Given the description of an element on the screen output the (x, y) to click on. 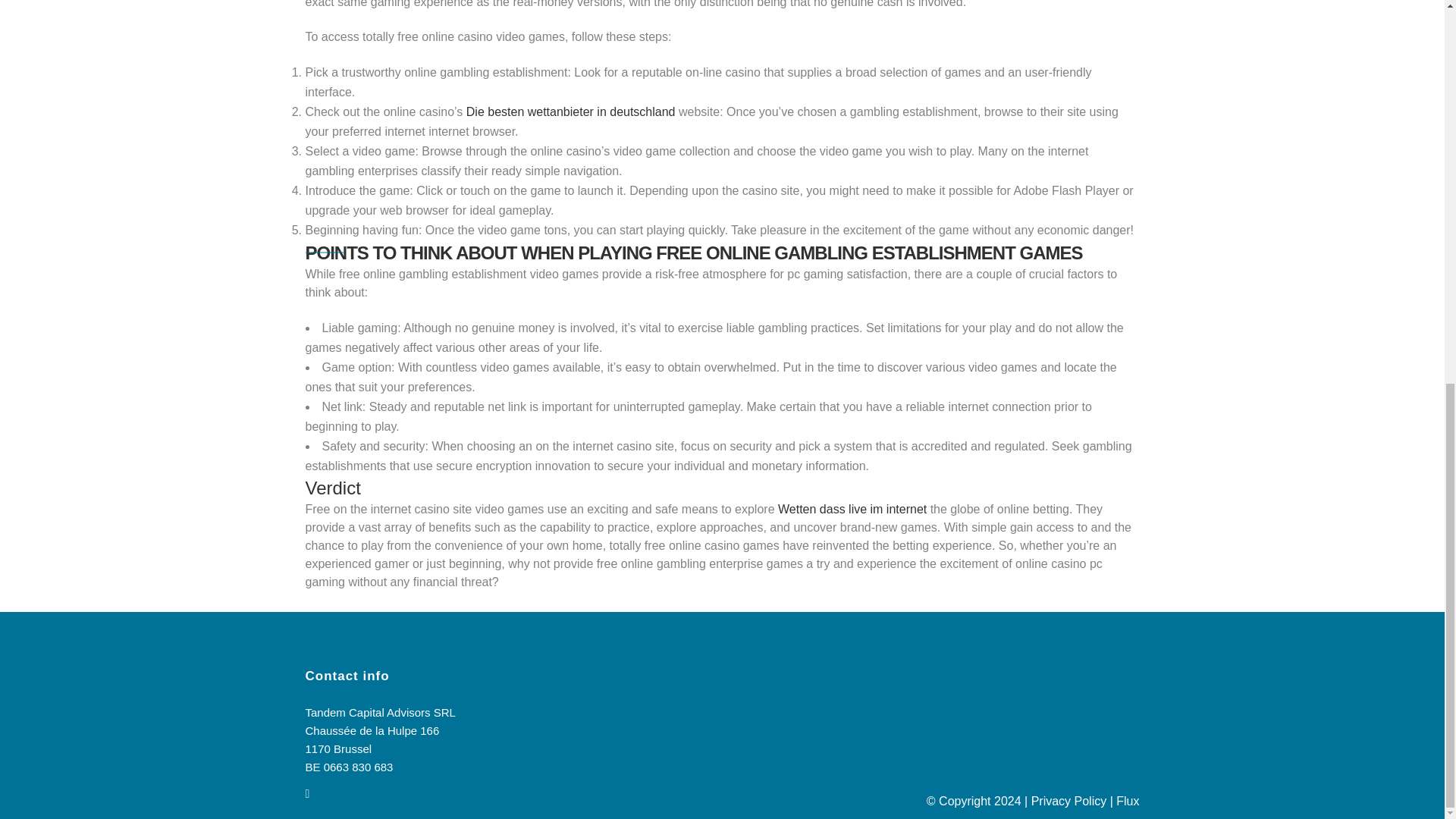
Webdesign Antwerpen (1127, 800)
Die besten wettanbieter in deutschland (570, 111)
Flux (1127, 800)
Wetten dass live im internet (851, 508)
Privacy Policy (1068, 800)
